Given the description of an element on the screen output the (x, y) to click on. 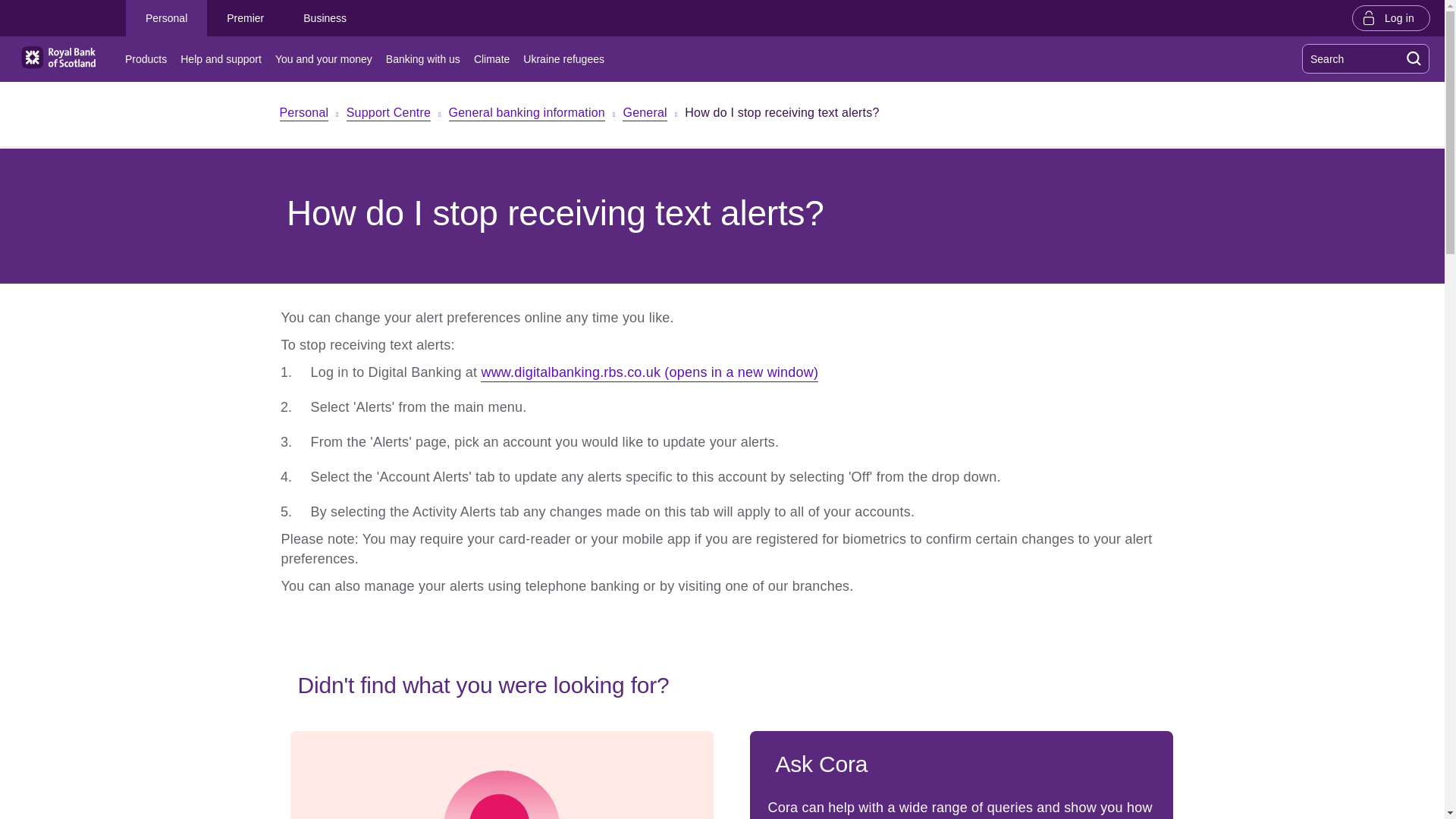
Support Centre (388, 114)
Products (149, 58)
Personal (304, 114)
Log in (1390, 17)
General (644, 114)
Royal Bank of Scotland (57, 58)
How do I stop receiving text alerts? (781, 115)
Premier (244, 18)
Personal (165, 18)
Business (324, 18)
General banking information (526, 114)
